Given the description of an element on the screen output the (x, y) to click on. 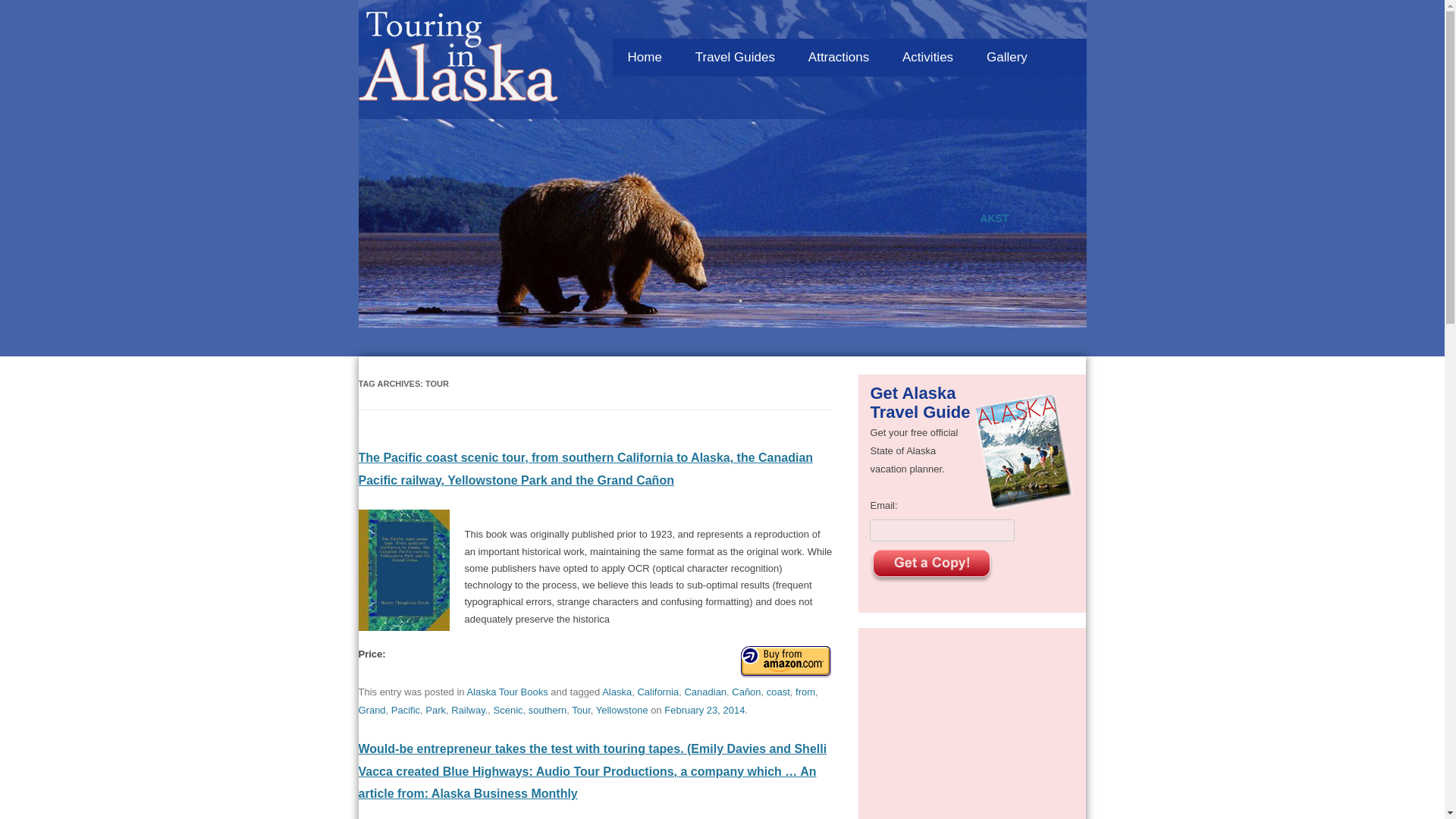
Activities (927, 57)
Advertisement (972, 733)
AKST local time (994, 218)
Skip to content (884, 34)
Skip to content (884, 34)
coast (778, 691)
Yellowstone (621, 709)
Weather Widget (722, 295)
Attractions (838, 57)
southern (547, 709)
